Given the description of an element on the screen output the (x, y) to click on. 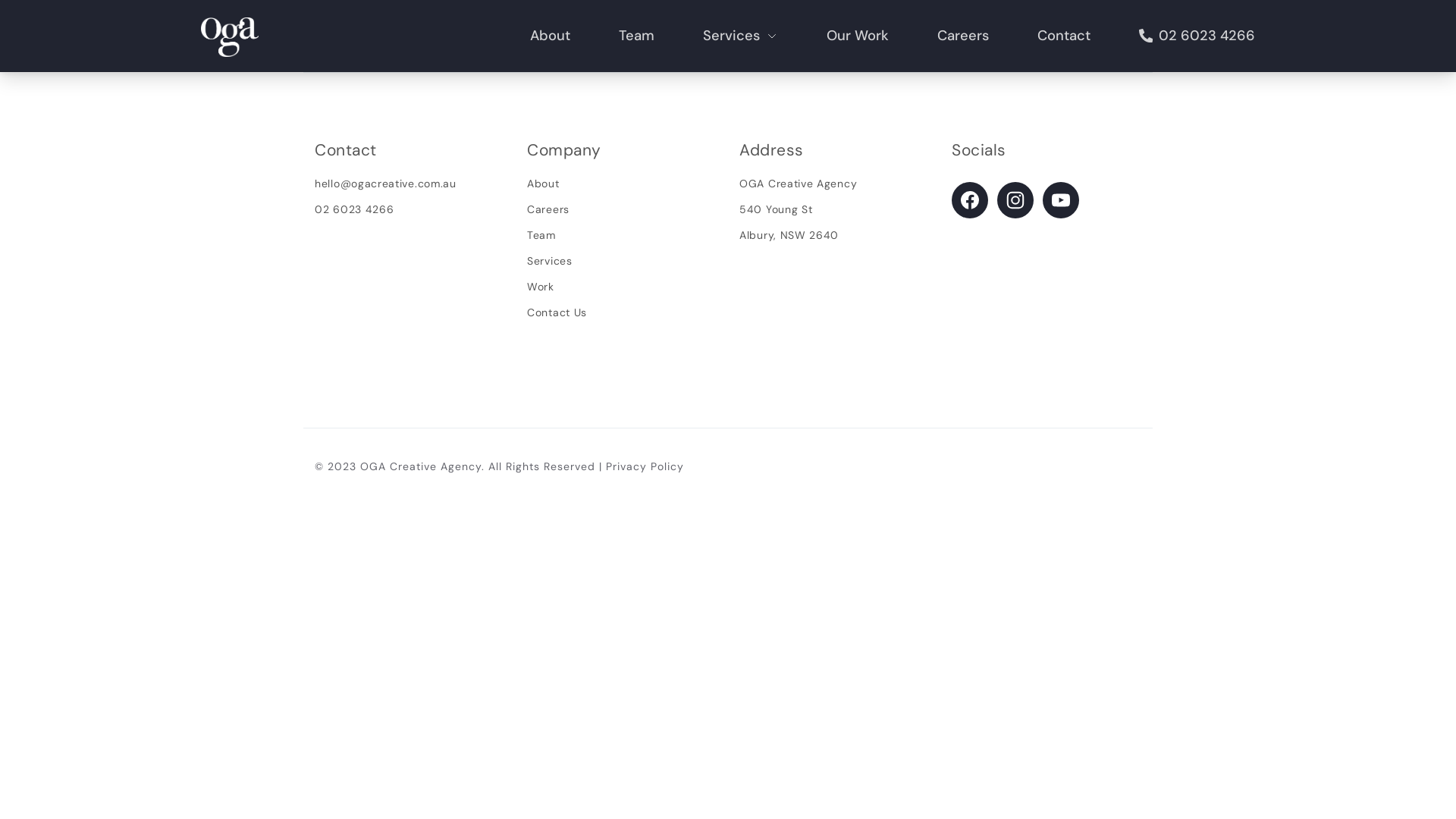
Contact Element type: text (1063, 35)
About Element type: text (550, 35)
About Element type: text (543, 183)
Team Element type: text (636, 35)
Contact Us Element type: text (556, 312)
02 6023 4266 Element type: text (1197, 35)
Careers Element type: text (548, 209)
Services Element type: text (740, 35)
02 6023 4266 Element type: text (353, 209)
Work Element type: text (540, 286)
Team Element type: text (541, 234)
Services Element type: text (549, 260)
Careers Element type: text (962, 35)
Our Work Element type: text (857, 35)
Privacy Policy Element type: text (644, 466)
